Given the description of an element on the screen output the (x, y) to click on. 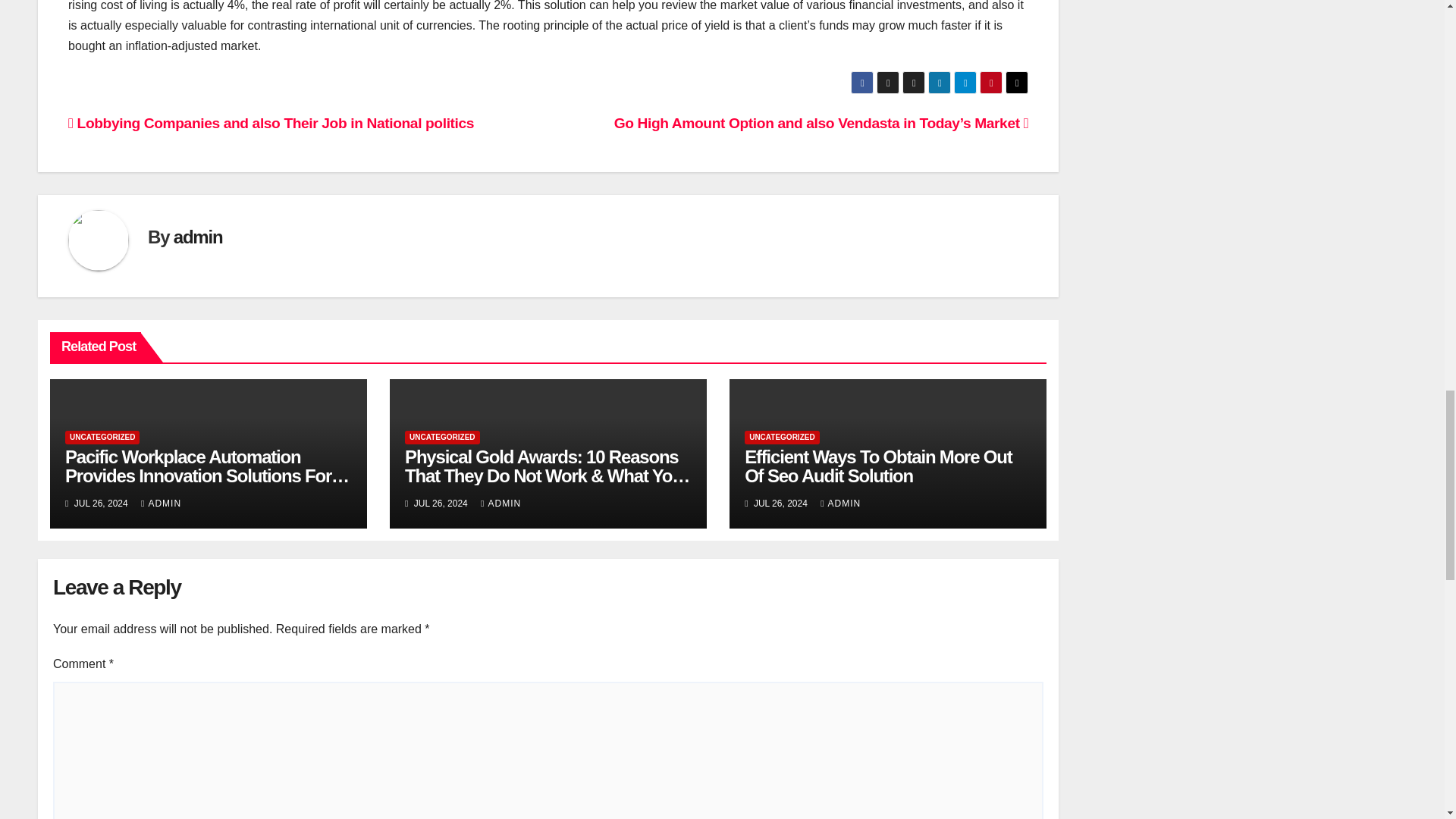
ADMIN (500, 502)
ADMIN (840, 502)
admin (197, 236)
Efficient Ways To Obtain More Out Of Seo Audit Solution (877, 466)
UNCATEGORIZED (102, 437)
UNCATEGORIZED (441, 437)
UNCATEGORIZED (781, 437)
ADMIN (160, 502)
Lobbying Companies and also Their Job in National politics (271, 123)
